Given the description of an element on the screen output the (x, y) to click on. 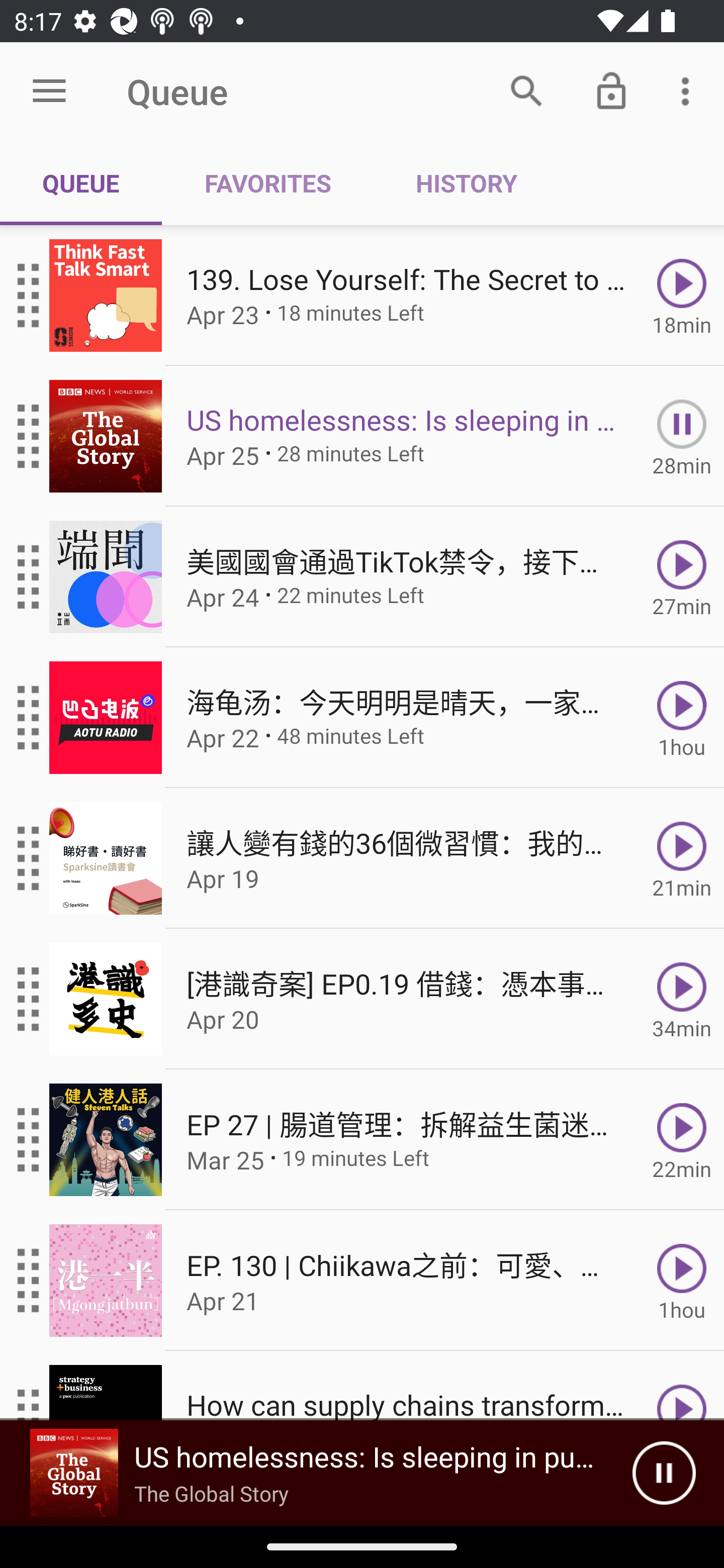
Open menu (49, 91)
Search (526, 90)
Lock Queue (611, 90)
More options (688, 90)
QUEUE (81, 183)
FAVORITES (267, 183)
HISTORY (465, 183)
Play 18min (681, 295)
Play 28min (681, 435)
Play 27min (681, 576)
Play 1hou (681, 717)
Play 21min (681, 858)
Play 34min (681, 998)
Play 22min (681, 1139)
Play 1hou (681, 1280)
Play (681, 1385)
Pause (663, 1472)
